Given the description of an element on the screen output the (x, y) to click on. 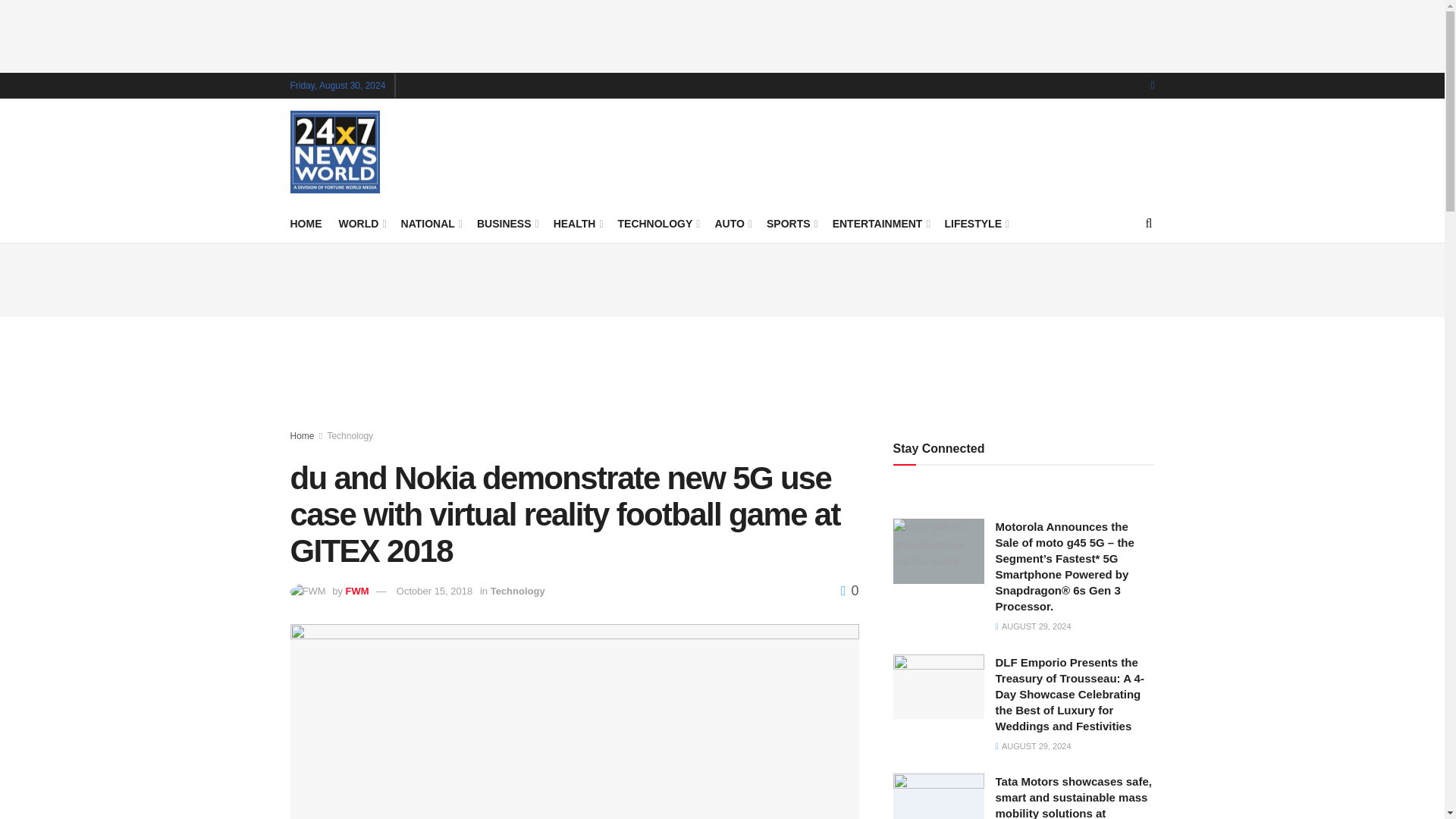
NATIONAL (430, 223)
Advertisement (722, 33)
Advertisement (722, 277)
Advertisement (878, 149)
Advertisement (722, 373)
HEALTH (577, 223)
BUSINESS (507, 223)
HOME (305, 223)
WORLD (360, 223)
